Given the description of an element on the screen output the (x, y) to click on. 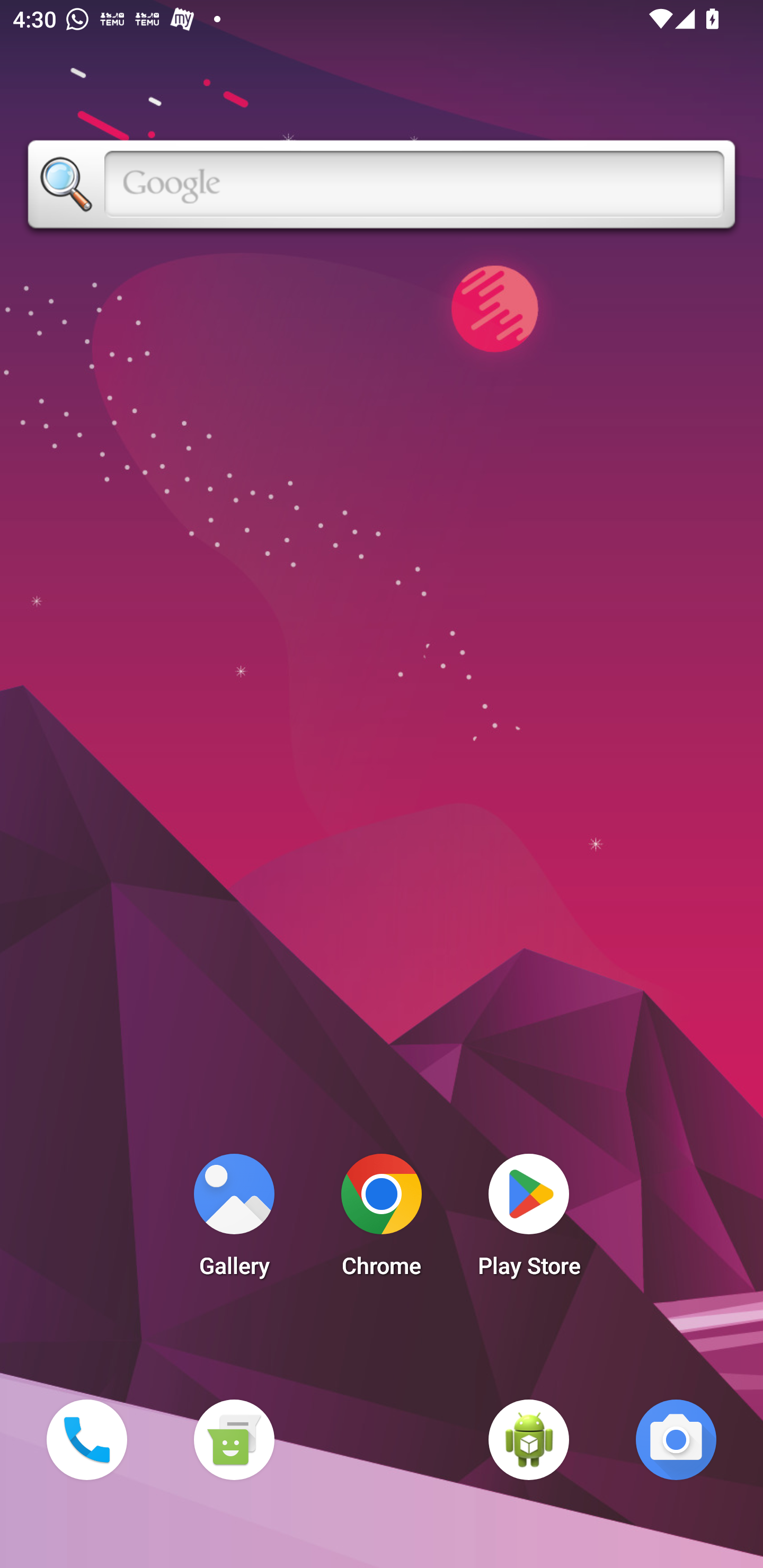
Gallery (233, 1220)
Chrome (381, 1220)
Play Store (528, 1220)
Phone (86, 1439)
Messaging (233, 1439)
WebView Browser Tester (528, 1439)
Camera (676, 1439)
